Given the description of an element on the screen output the (x, y) to click on. 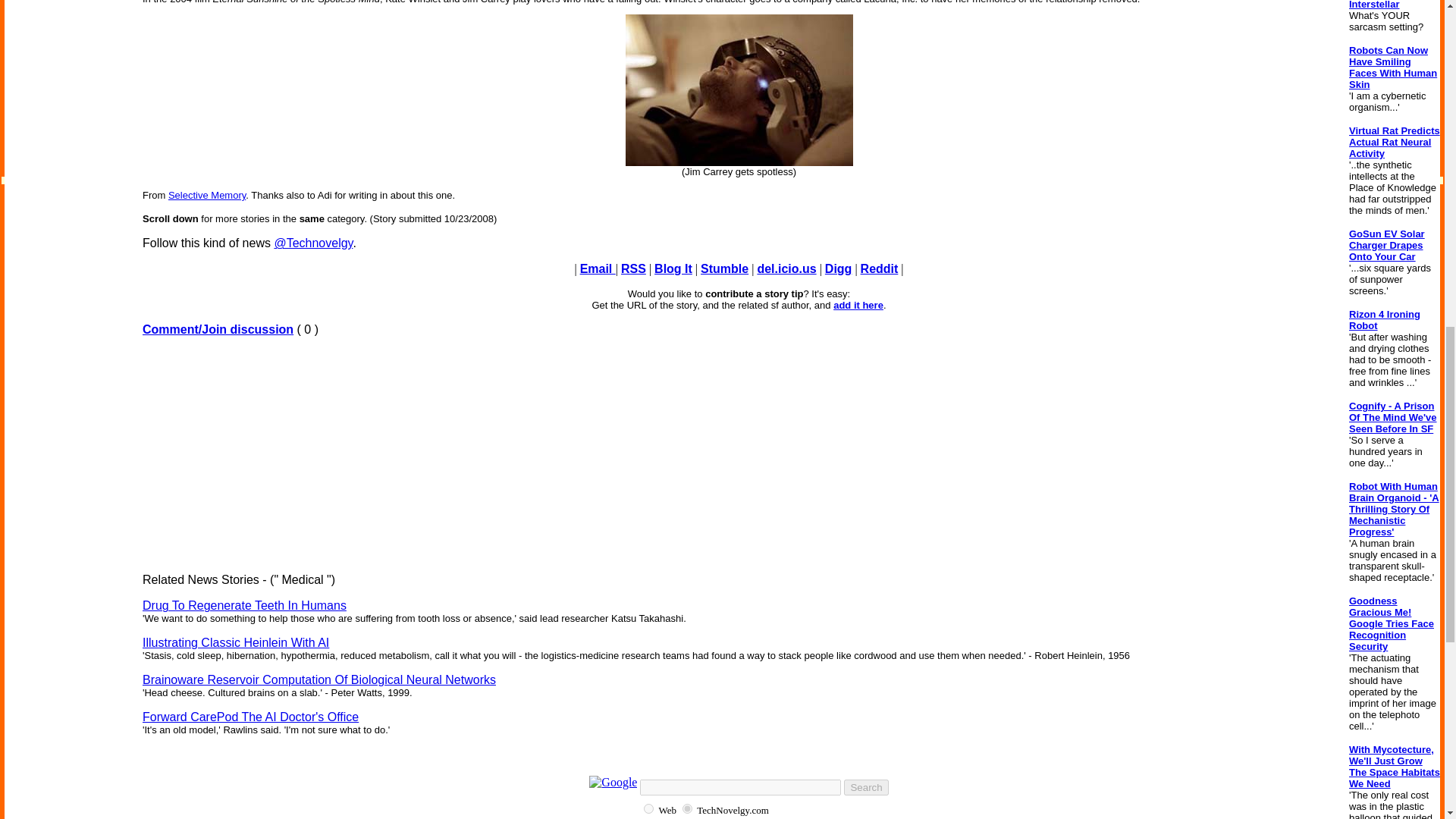
Selective Memory (207, 194)
TechNovelgy.com (687, 808)
Search (866, 787)
